Given the description of an element on the screen output the (x, y) to click on. 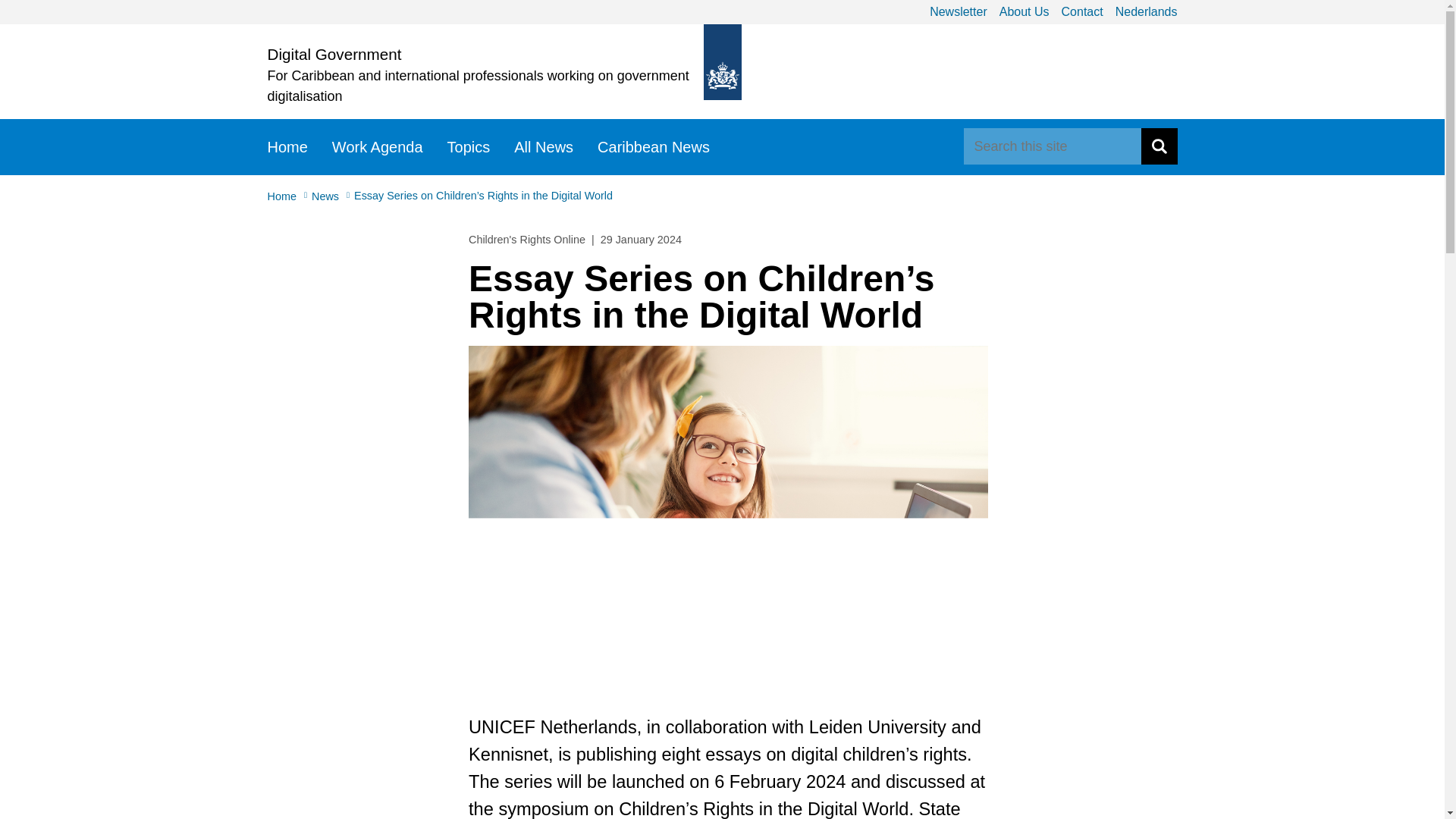
Caribbean News (653, 146)
Work Agenda (377, 146)
Search (1158, 145)
All News (543, 146)
Topics (468, 146)
Contact (1076, 12)
Search (1158, 145)
News (332, 195)
Home (286, 146)
Newsletter (952, 12)
About Us (1018, 12)
Nederlands (1140, 12)
Digital Government (333, 54)
Search (1158, 145)
Home (288, 195)
